Given the description of an element on the screen output the (x, y) to click on. 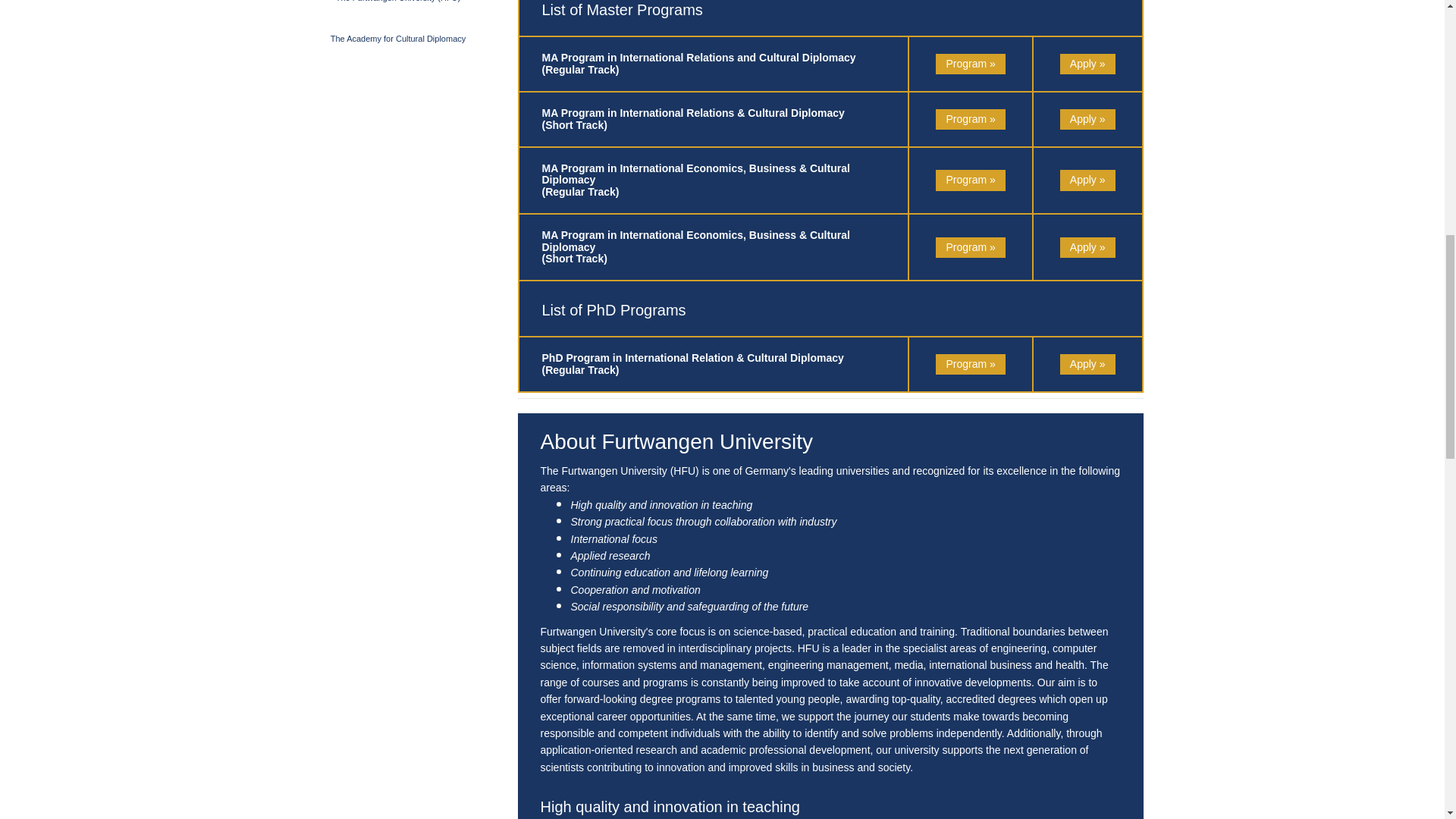
The Academy for Cultural Diplomacy (397, 38)
